Given the description of an element on the screen output the (x, y) to click on. 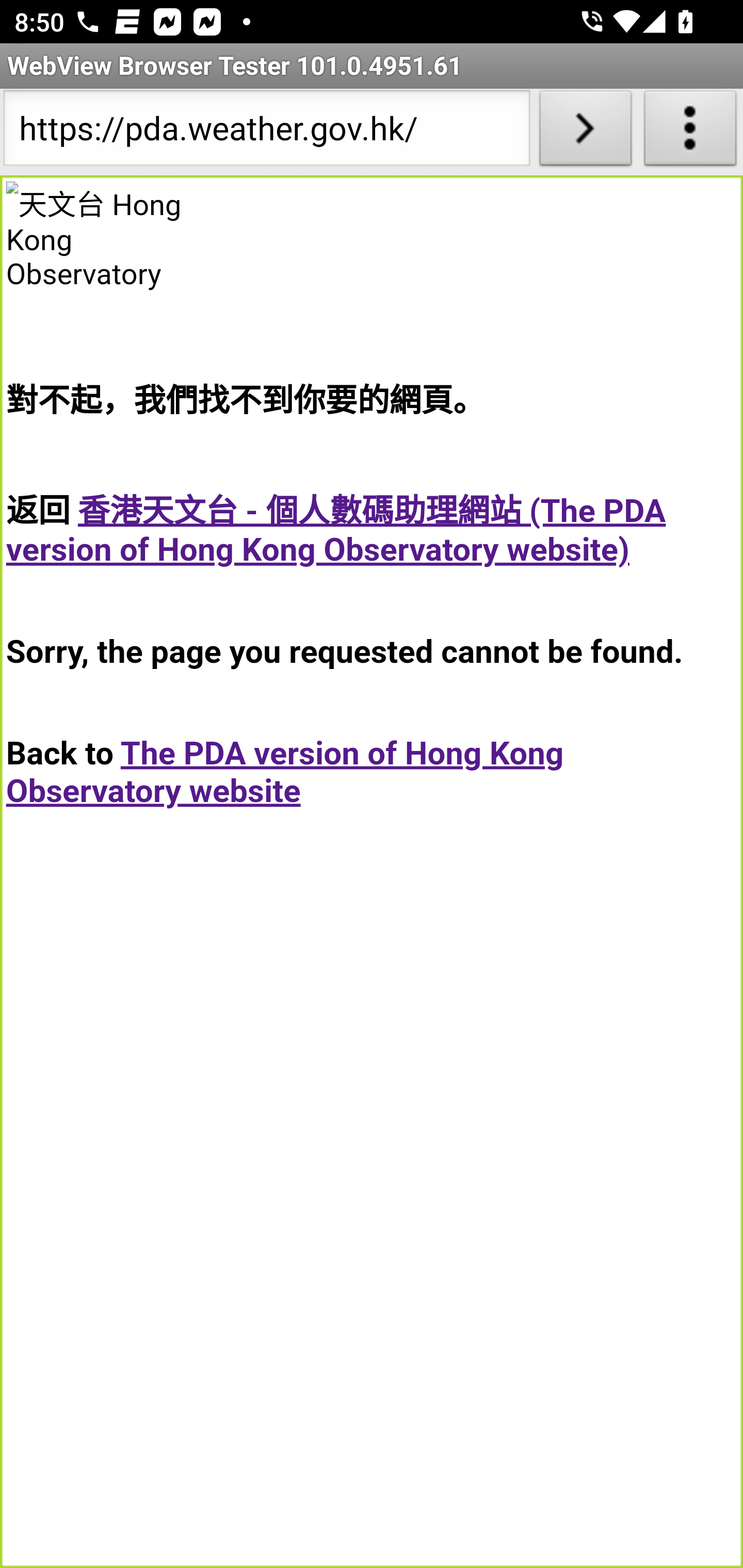
https://pda.weather.gov.hk/ (266, 132)
Load URL (585, 132)
About WebView (690, 132)
The PDA version of Hong Kong Observatory website (284, 771)
